Given the description of an element on the screen output the (x, y) to click on. 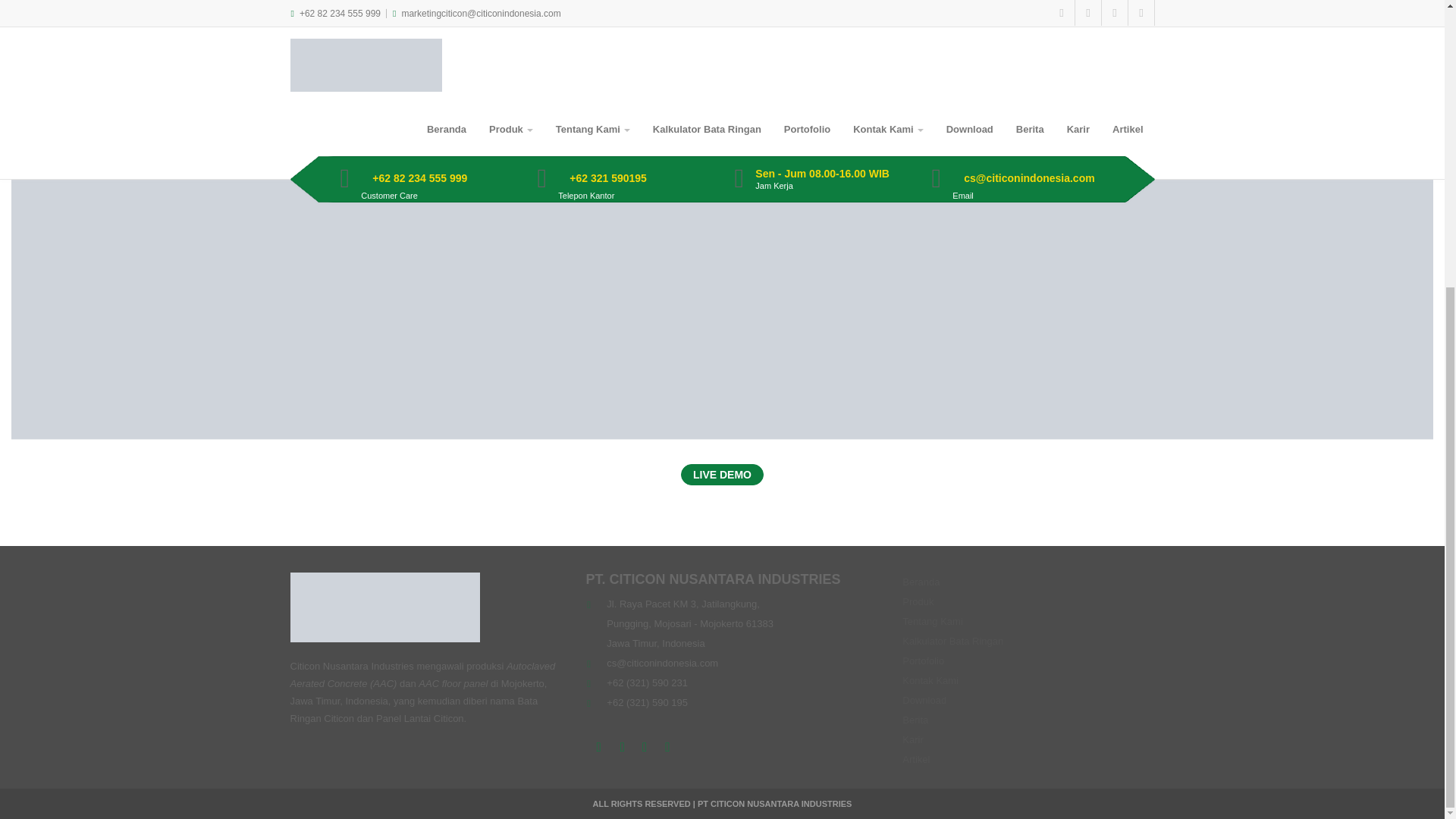
Produk (917, 601)
LIVE DEMO (721, 474)
LIVE DEMO (721, 474)
Tentang Kami (932, 621)
Beranda (920, 582)
